Given the description of an element on the screen output the (x, y) to click on. 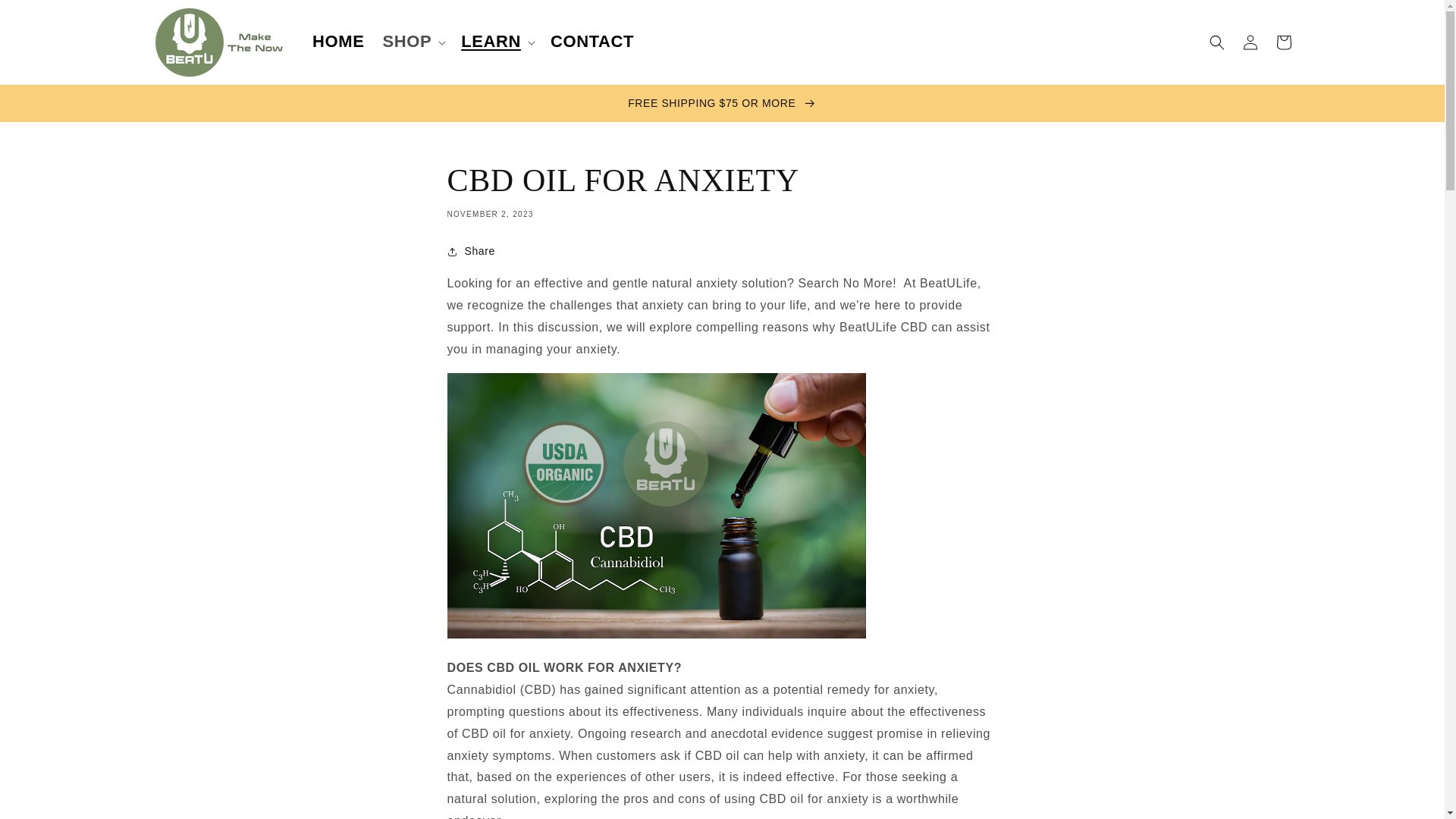
HOME (337, 42)
Skip to content (45, 17)
